Given the description of an element on the screen output the (x, y) to click on. 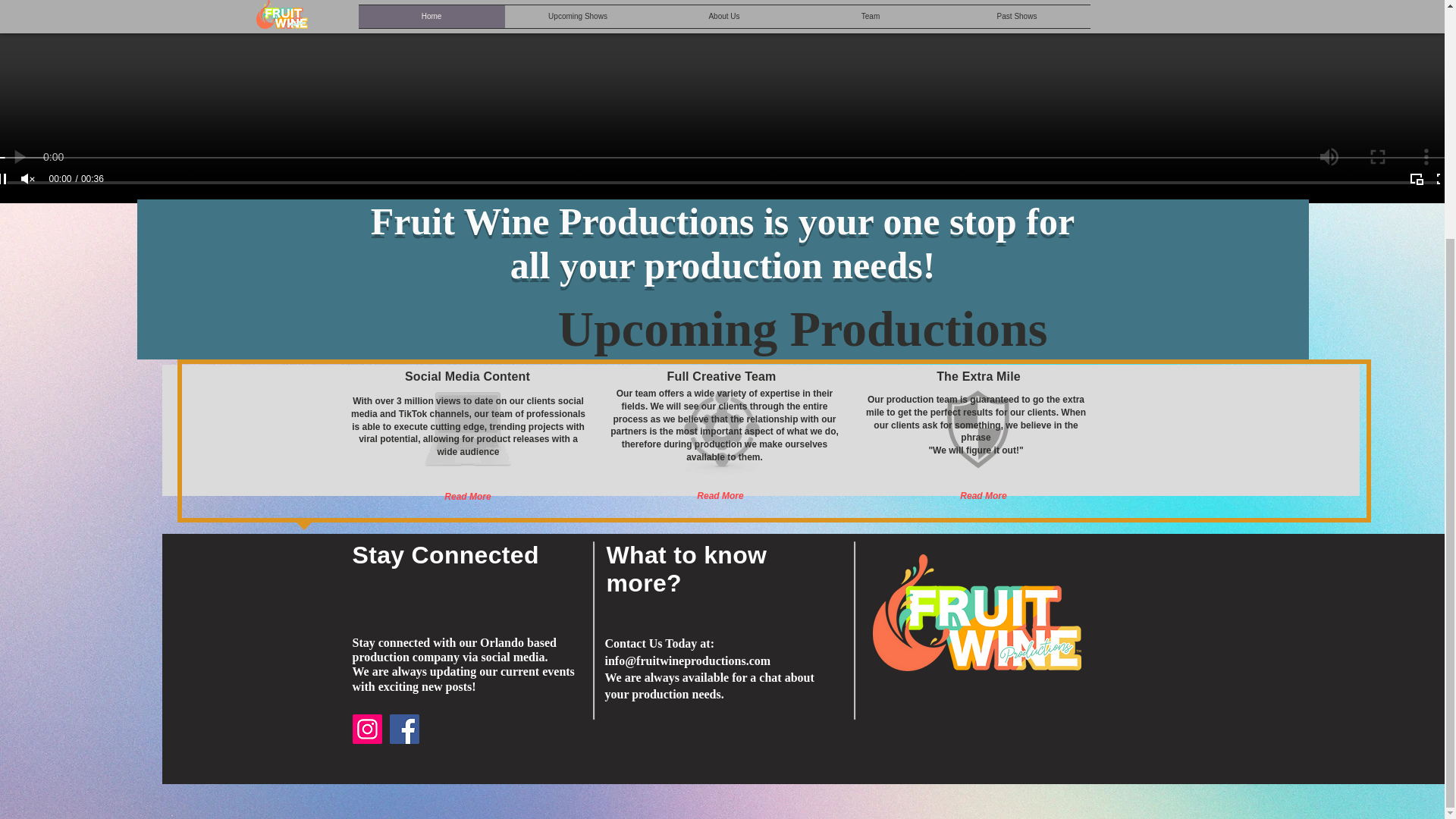
Read More (468, 496)
Read More (719, 495)
Read More (984, 495)
Upcoming Productions (802, 328)
